Given the description of an element on the screen output the (x, y) to click on. 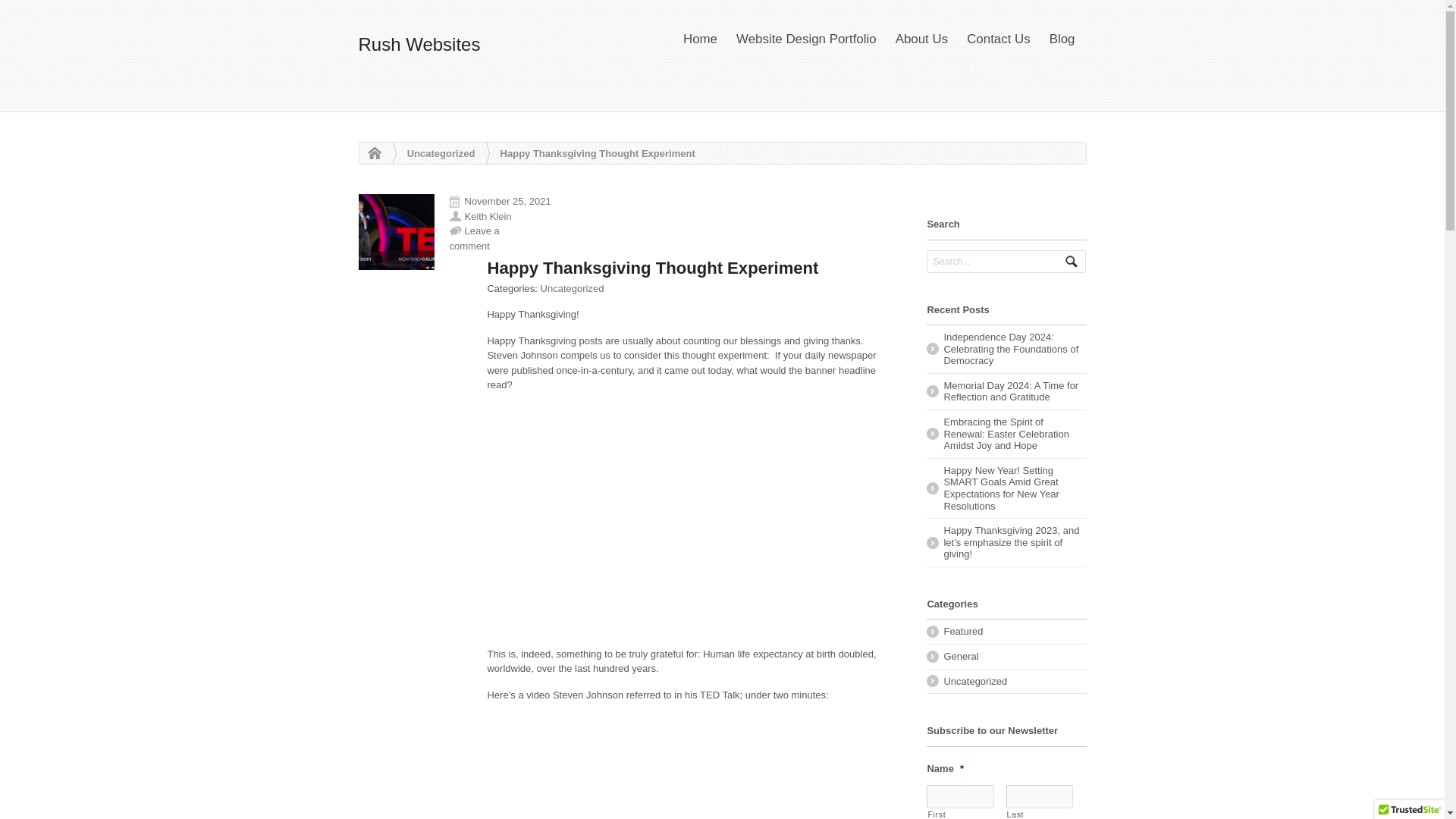
Keith Klein (487, 215)
Uncategorized (572, 288)
Uncategorized (441, 153)
View Uncategorized (441, 153)
Search... (999, 260)
Posts by Keith Klein (487, 215)
Home (370, 153)
Blog (1062, 39)
Rush Websites (419, 44)
Contact Us (998, 39)
Happy Thanksgiving Thought Experiment (395, 232)
Leave a comment (473, 238)
YouTube video player (691, 519)
Rush Websites (370, 153)
Home (700, 39)
